Given the description of an element on the screen output the (x, y) to click on. 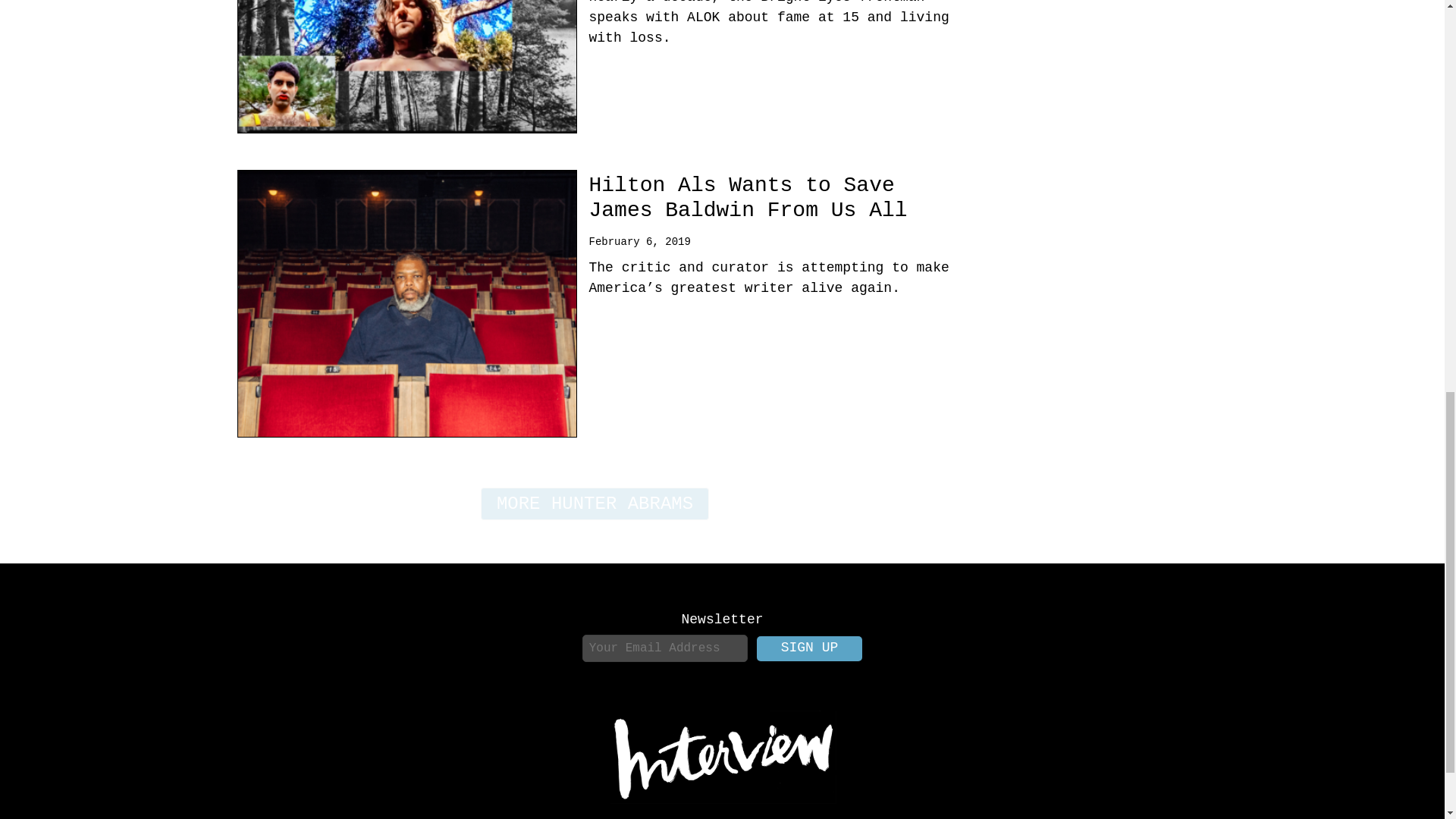
Newsletter (721, 619)
MORE HUNTER ABRAMS (594, 503)
Sign up (810, 648)
Sign up (810, 648)
